Given the description of an element on the screen output the (x, y) to click on. 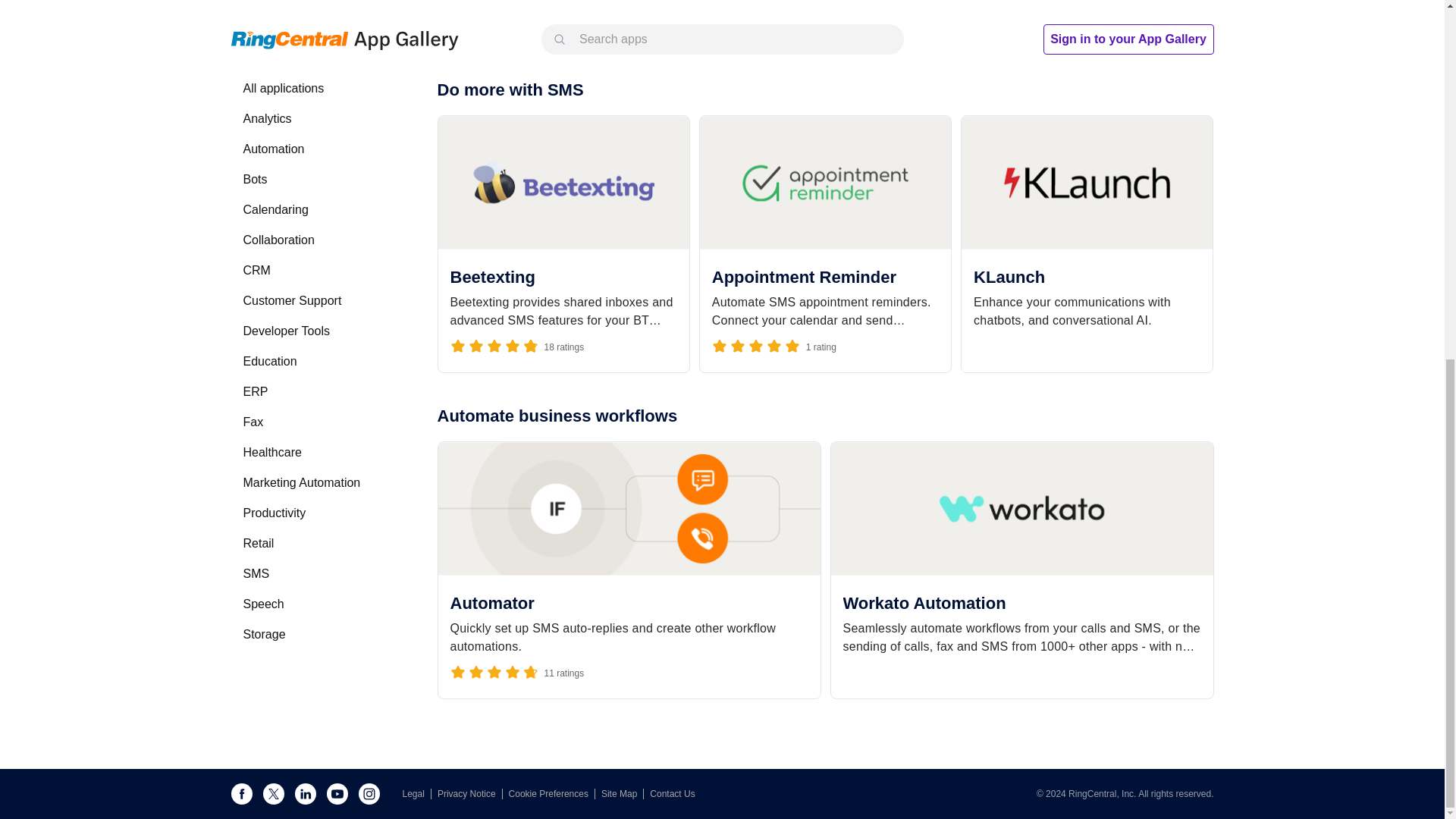
Contact Center (283, 3)
Fax (253, 421)
CRM (256, 269)
Developer Tools (321, 331)
Customer Support (321, 300)
Collaboration (278, 239)
Bots (254, 178)
All applications (283, 88)
ERP (255, 391)
Healthcare (321, 452)
Calendaring (321, 209)
Automation (273, 148)
Storage (321, 634)
Fax (321, 422)
